Given the description of an element on the screen output the (x, y) to click on. 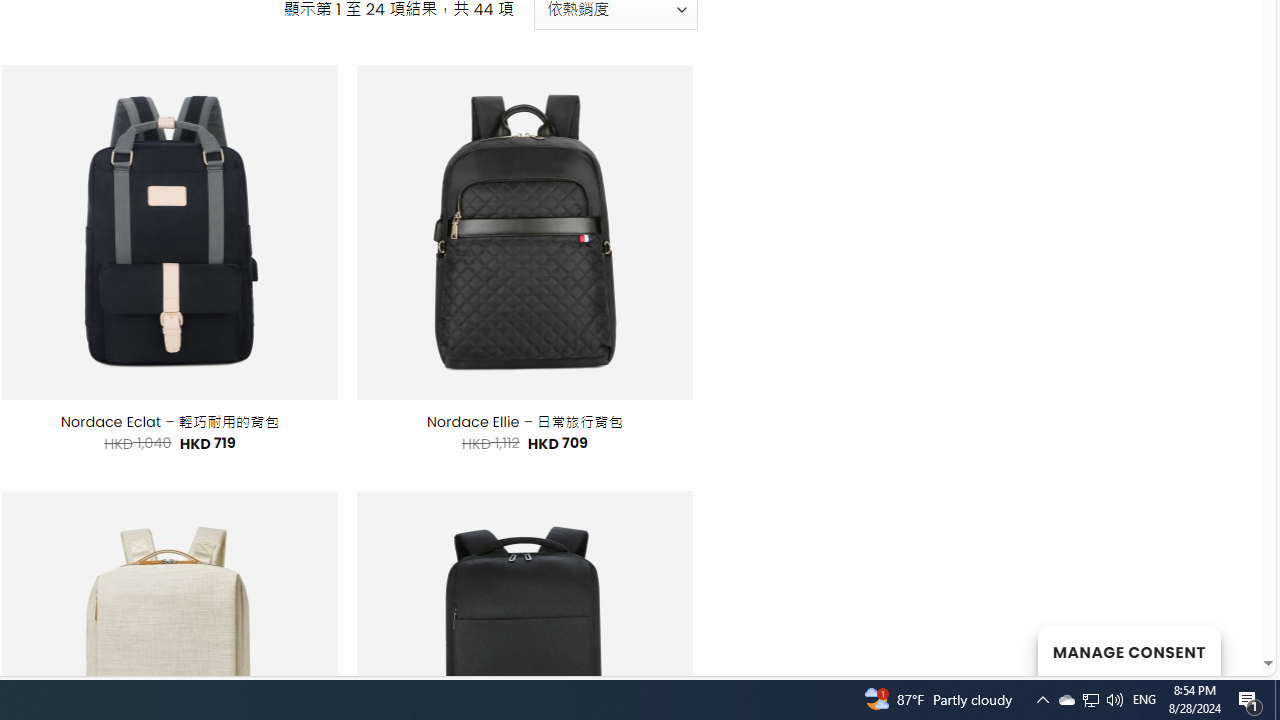
MANAGE CONSENT (1128, 650)
